Given the description of an element on the screen output the (x, y) to click on. 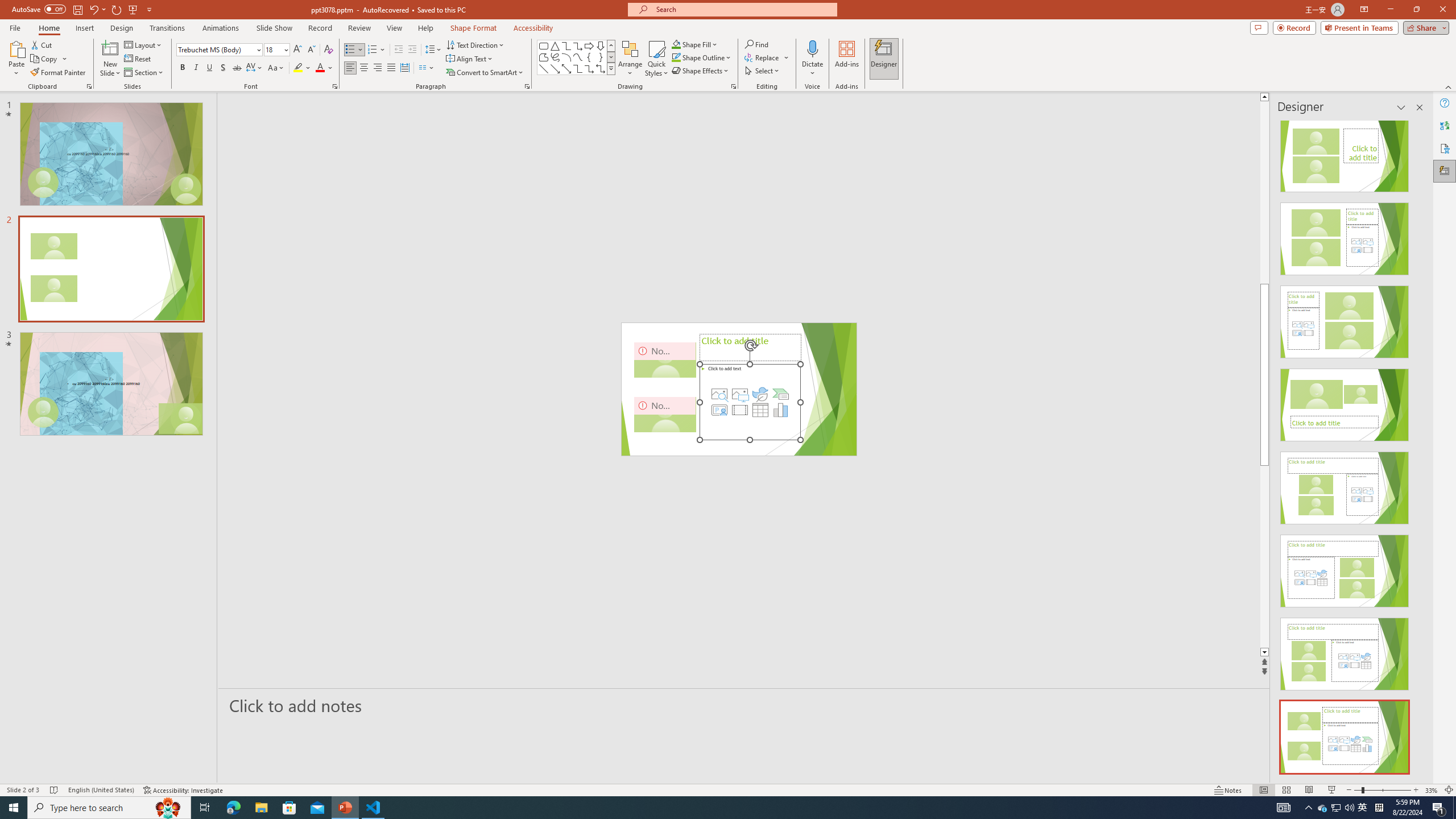
Zoom 33% (1431, 790)
